Given the description of an element on the screen output the (x, y) to click on. 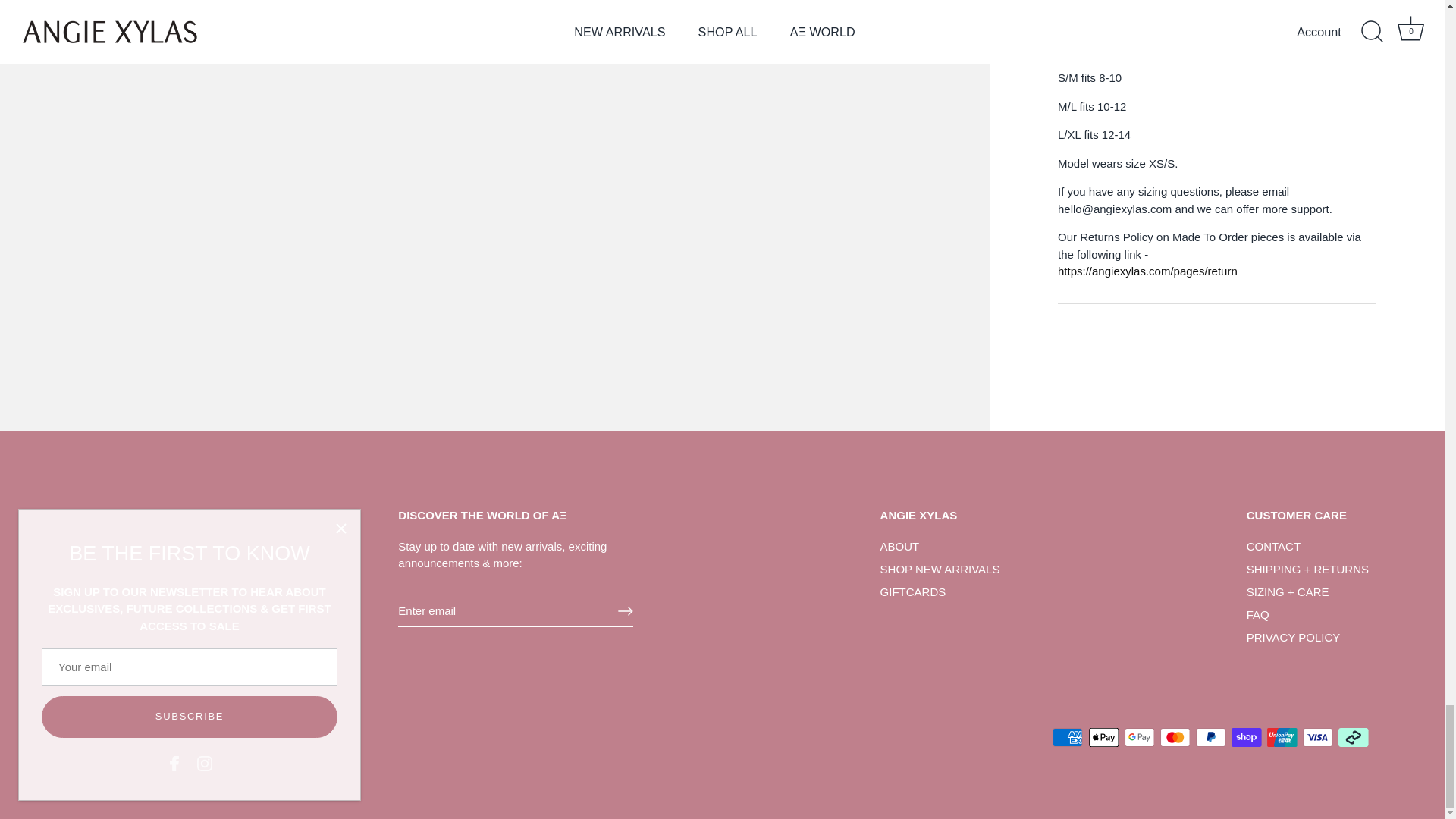
Union Pay (1281, 737)
Instagram (120, 607)
Shop Pay (1245, 737)
PayPal (1210, 737)
American Express (1067, 737)
Google Pay (1139, 737)
Mastercard (1174, 737)
Apple Pay (1104, 737)
Visa (1317, 737)
RIGHT ARROW LONG (625, 611)
